Given the description of an element on the screen output the (x, y) to click on. 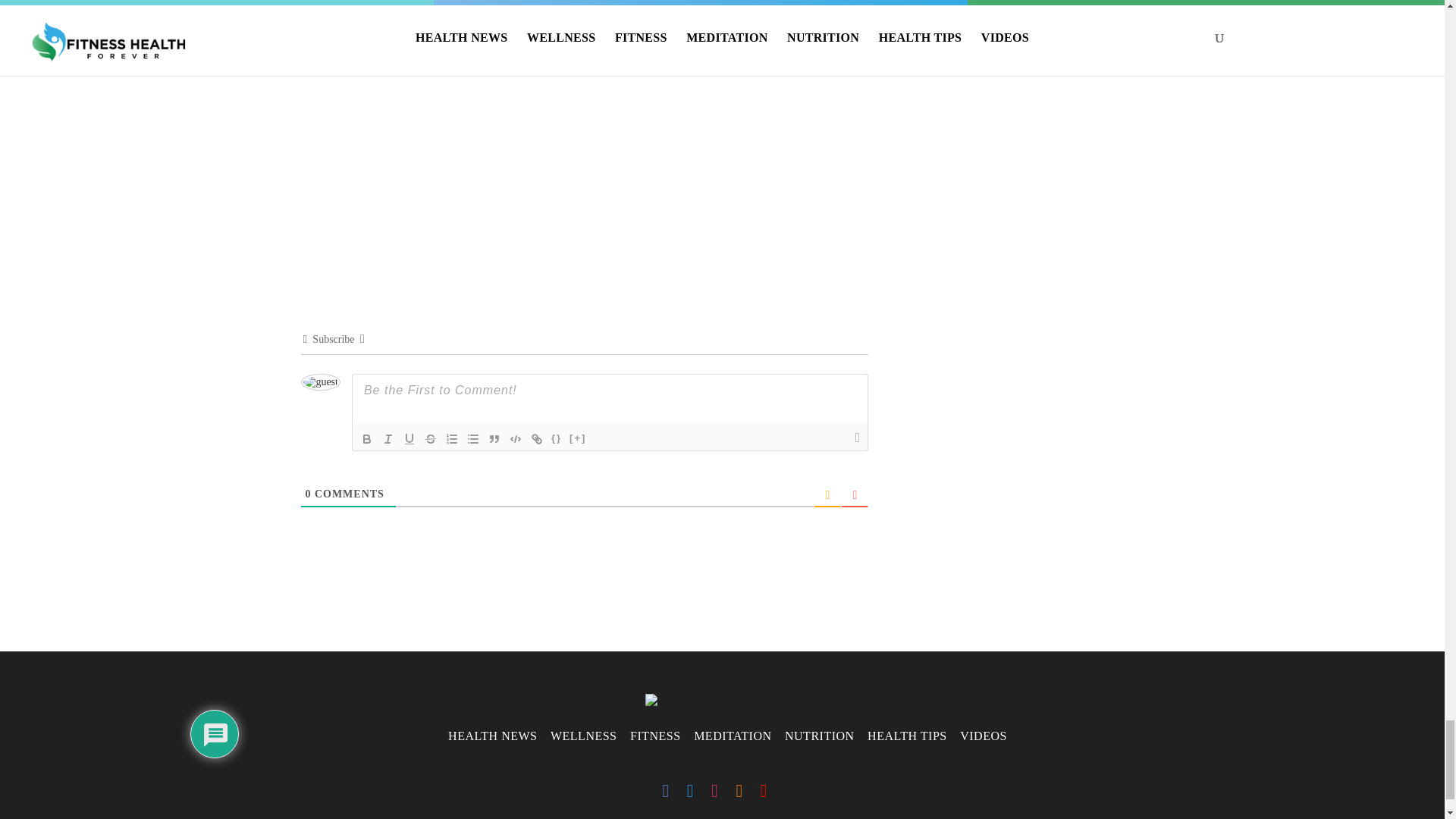
ordered (452, 438)
Underline (409, 438)
Link (536, 438)
Strike (430, 438)
Bold (366, 438)
bullet (473, 438)
Ordered List (452, 438)
Unordered List (473, 438)
Italic (387, 438)
Blockquote (494, 438)
Source Code (556, 438)
Code Block (515, 438)
Spoiler (577, 438)
